Given the description of an element on the screen output the (x, y) to click on. 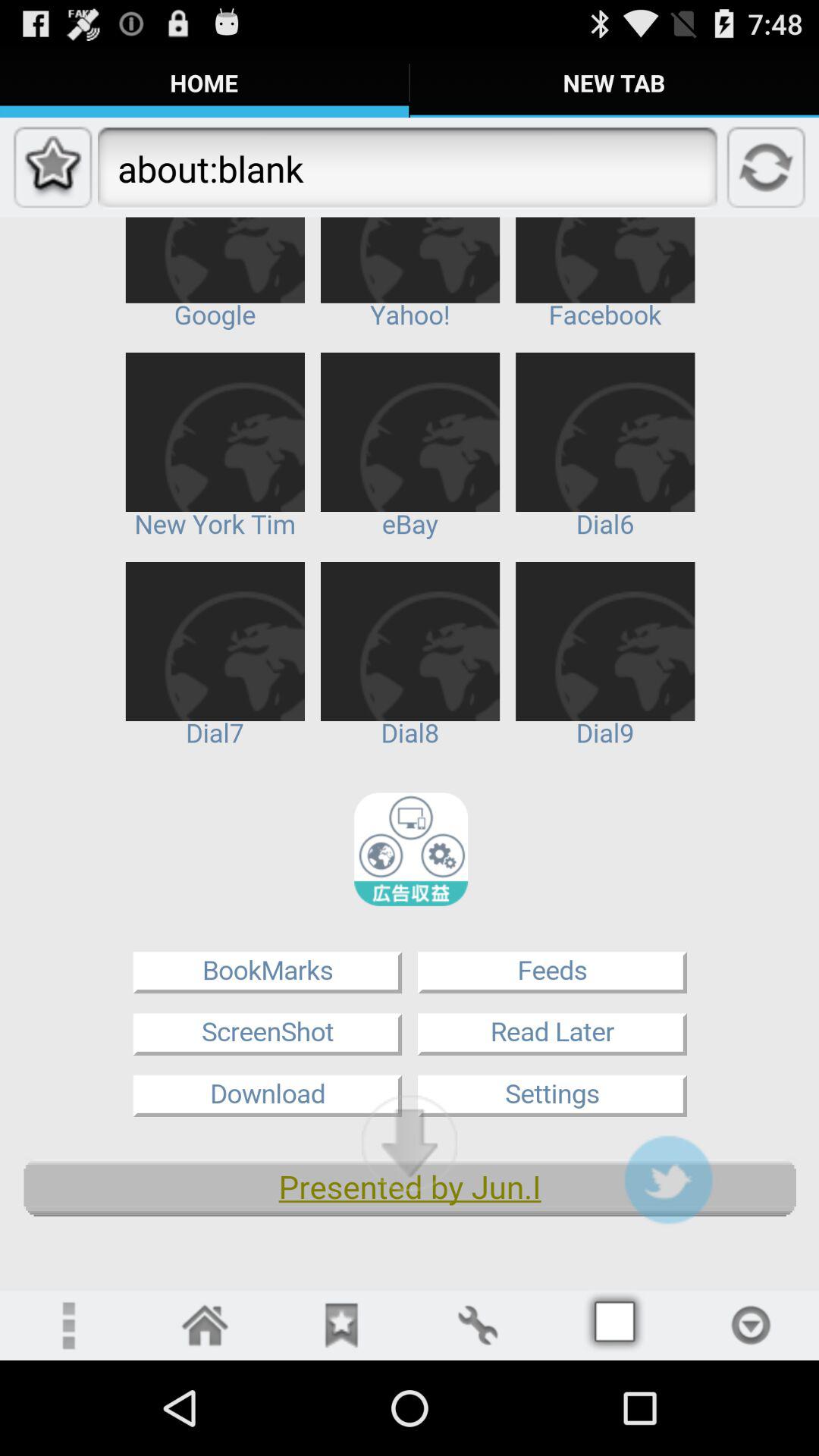
option button (750, 1325)
